Given the description of an element on the screen output the (x, y) to click on. 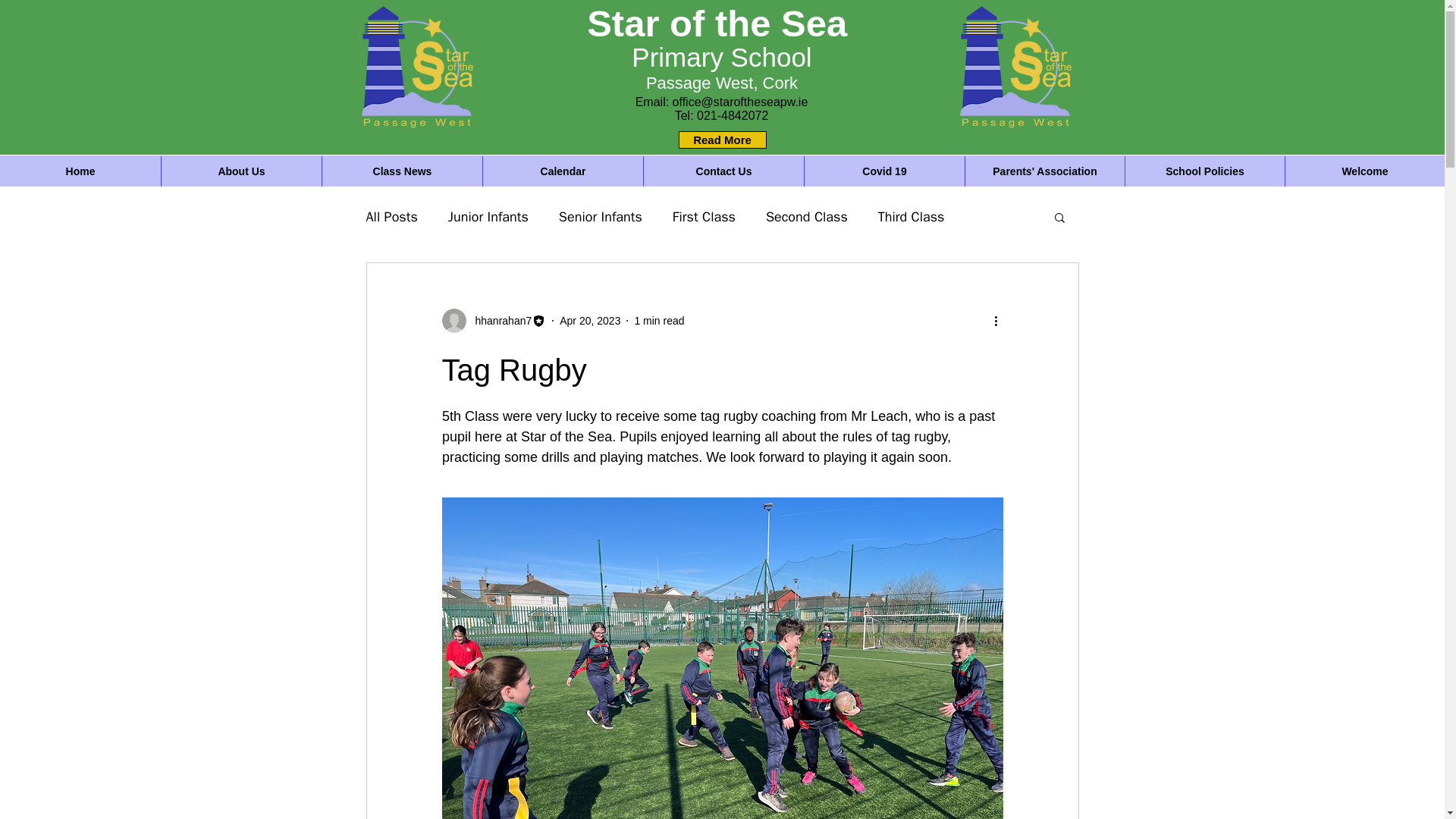
Covid 19 (884, 171)
Star Of The Sea Logo High Res.png (415, 67)
Third Class (910, 217)
Apr 20, 2023 (589, 319)
Parents' Association (1044, 171)
hhanrahan7 (498, 320)
1 min read (658, 319)
School Policies (1204, 171)
Class News (401, 171)
Calendar (563, 171)
